Given the description of an element on the screen output the (x, y) to click on. 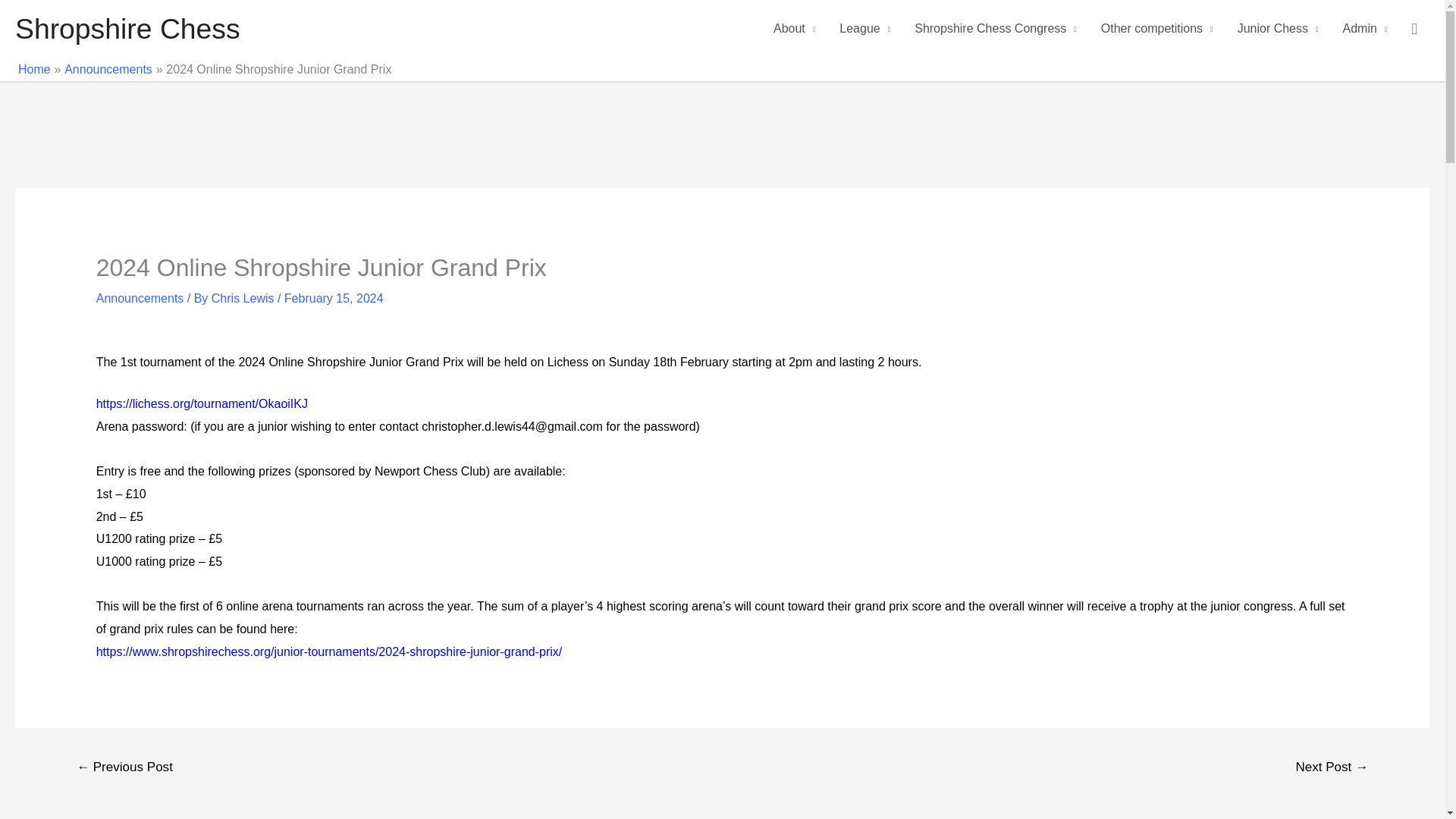
About (794, 29)
View all posts by Chris Lewis (244, 297)
Shropshire Chess (127, 29)
League (864, 29)
